Given the description of an element on the screen output the (x, y) to click on. 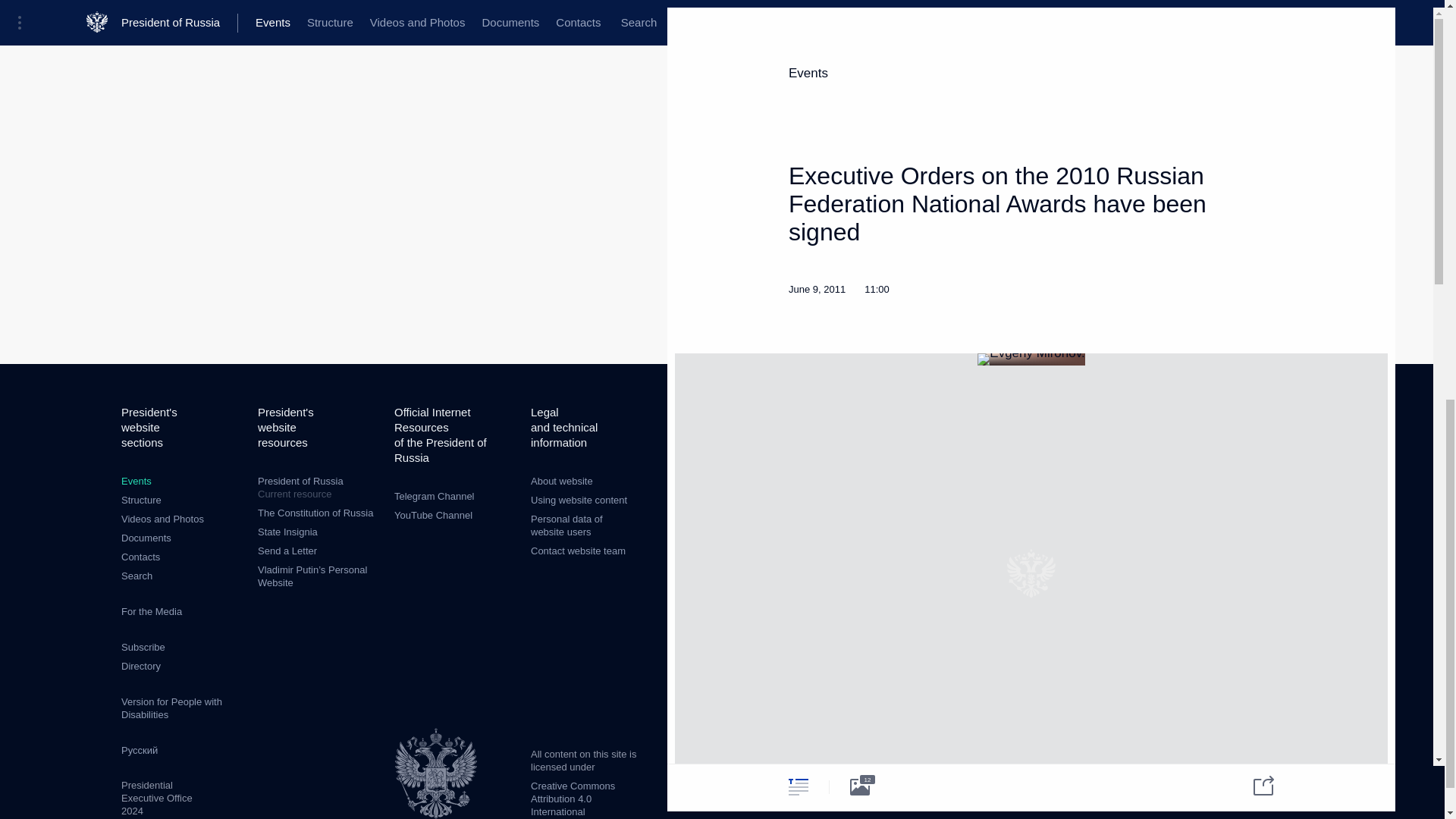
Documents (145, 537)
Personal data of website users (566, 525)
Version for People with Disabilities (171, 708)
Events (135, 480)
Contacts (140, 556)
Subscribe (142, 646)
For the Media (151, 611)
Telegram Channel (434, 496)
Search (136, 575)
YouTube Channel (432, 514)
